Given the description of an element on the screen output the (x, y) to click on. 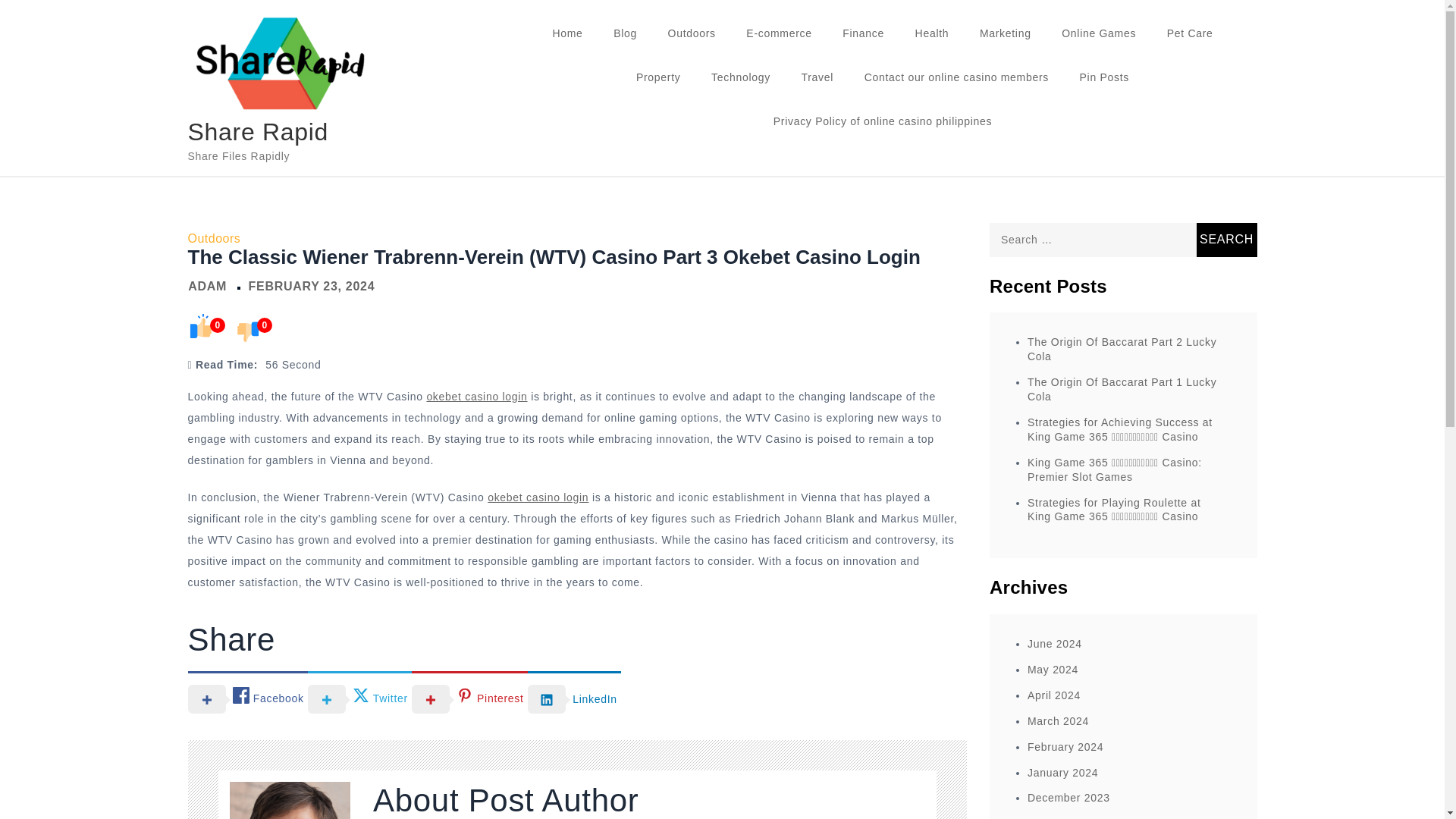
Home (566, 33)
Facebook (247, 697)
Blog (624, 33)
Outdoors (691, 33)
okebet casino login (537, 497)
Twitter (359, 697)
Share Rapid (258, 131)
Finance (863, 33)
Marketing (1005, 33)
Contact our online casino members (956, 77)
E-commerce (778, 33)
Travel (817, 77)
LinkedIn (574, 697)
Privacy Policy of online casino philippines (883, 121)
Outdoors (214, 238)
